Given the description of an element on the screen output the (x, y) to click on. 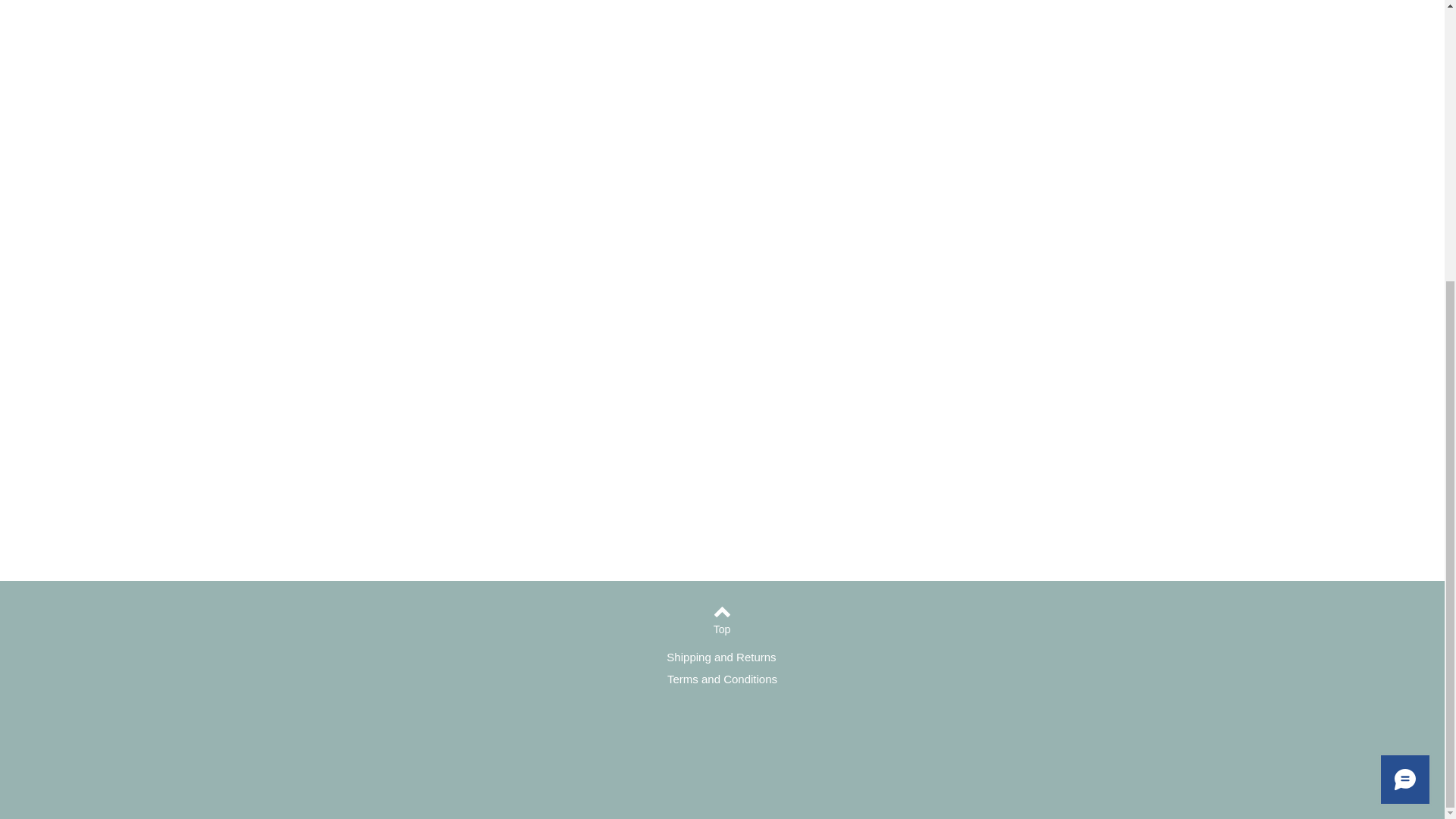
Top (721, 630)
Terms and Conditions (721, 678)
Shipping and Returns (721, 656)
Back to top (722, 611)
